Given the description of an element on the screen output the (x, y) to click on. 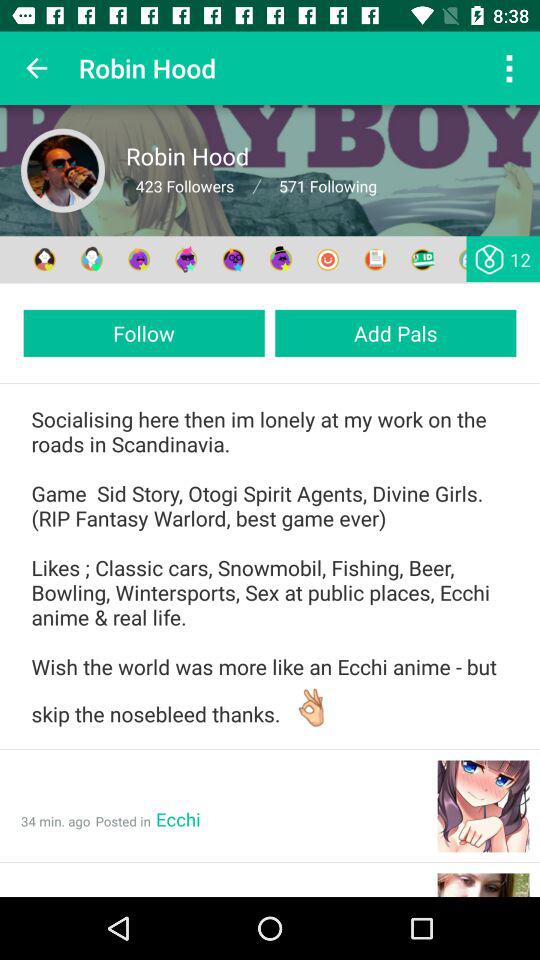
scroll until the follow icon (143, 332)
